Given the description of an element on the screen output the (x, y) to click on. 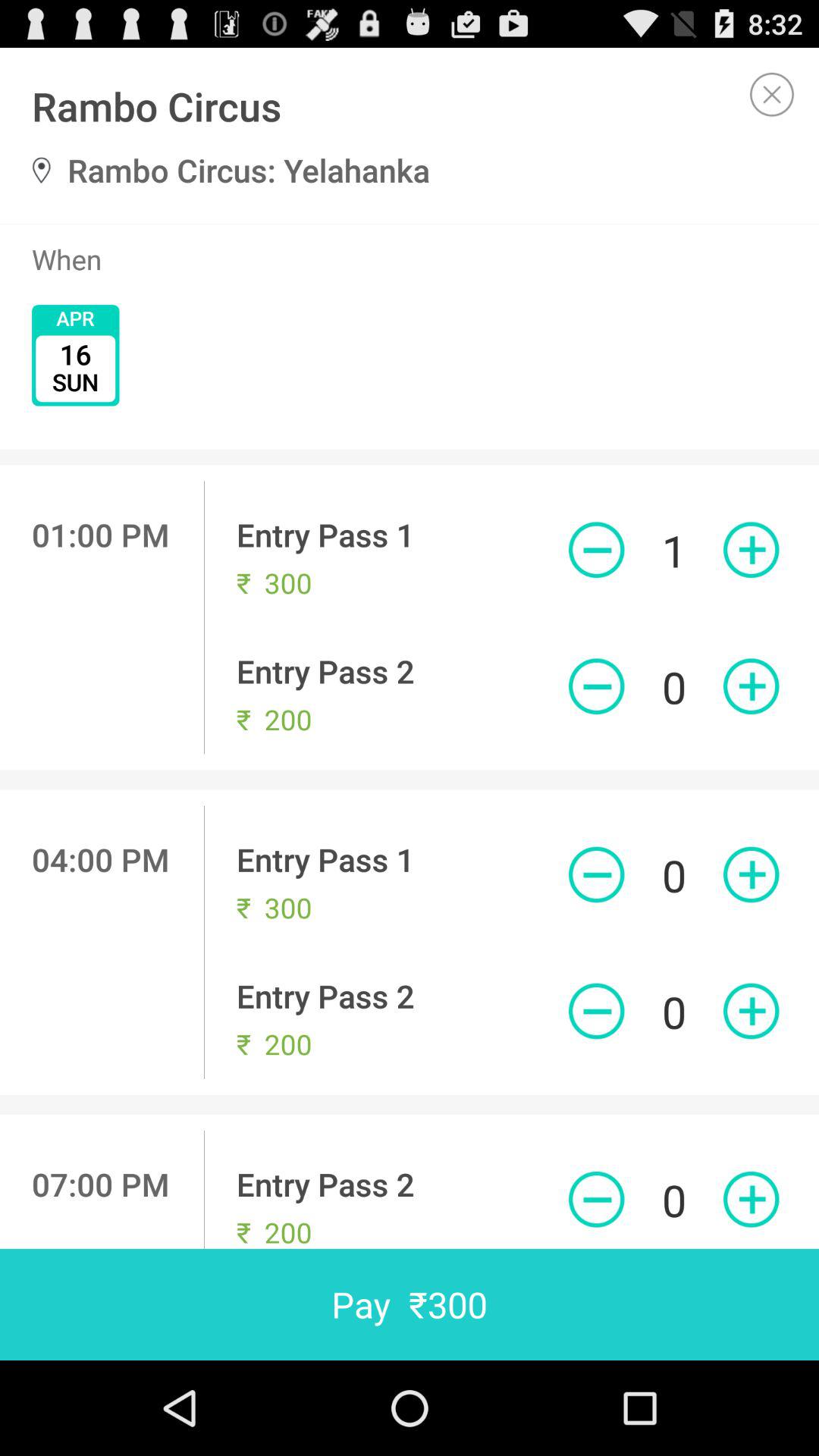
subtract quantity by one (596, 874)
